Given the description of an element on the screen output the (x, y) to click on. 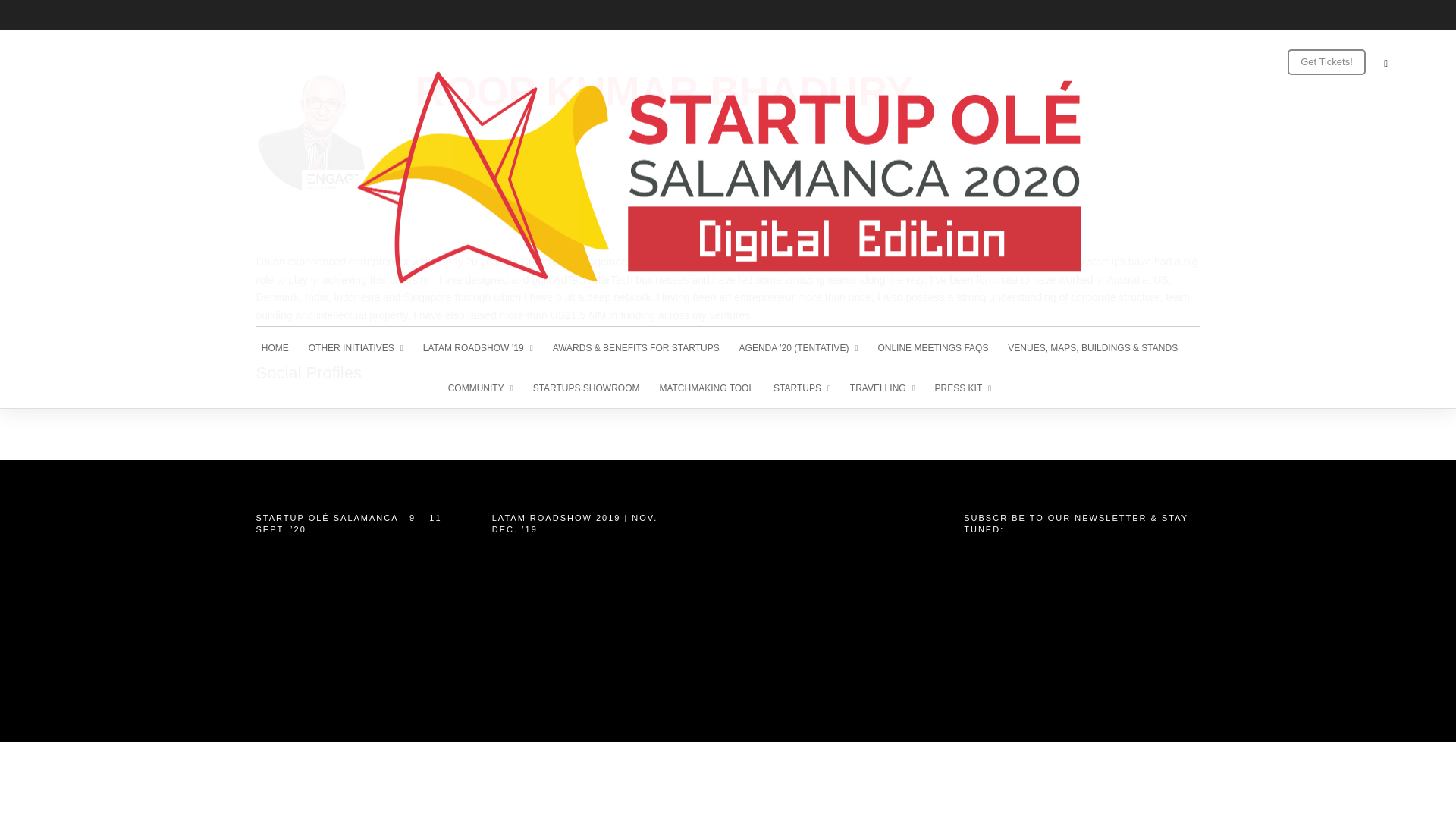
Get Tickets! (1327, 62)
HOME (281, 346)
OTHER INITIATIVES (362, 346)
